Given the description of an element on the screen output the (x, y) to click on. 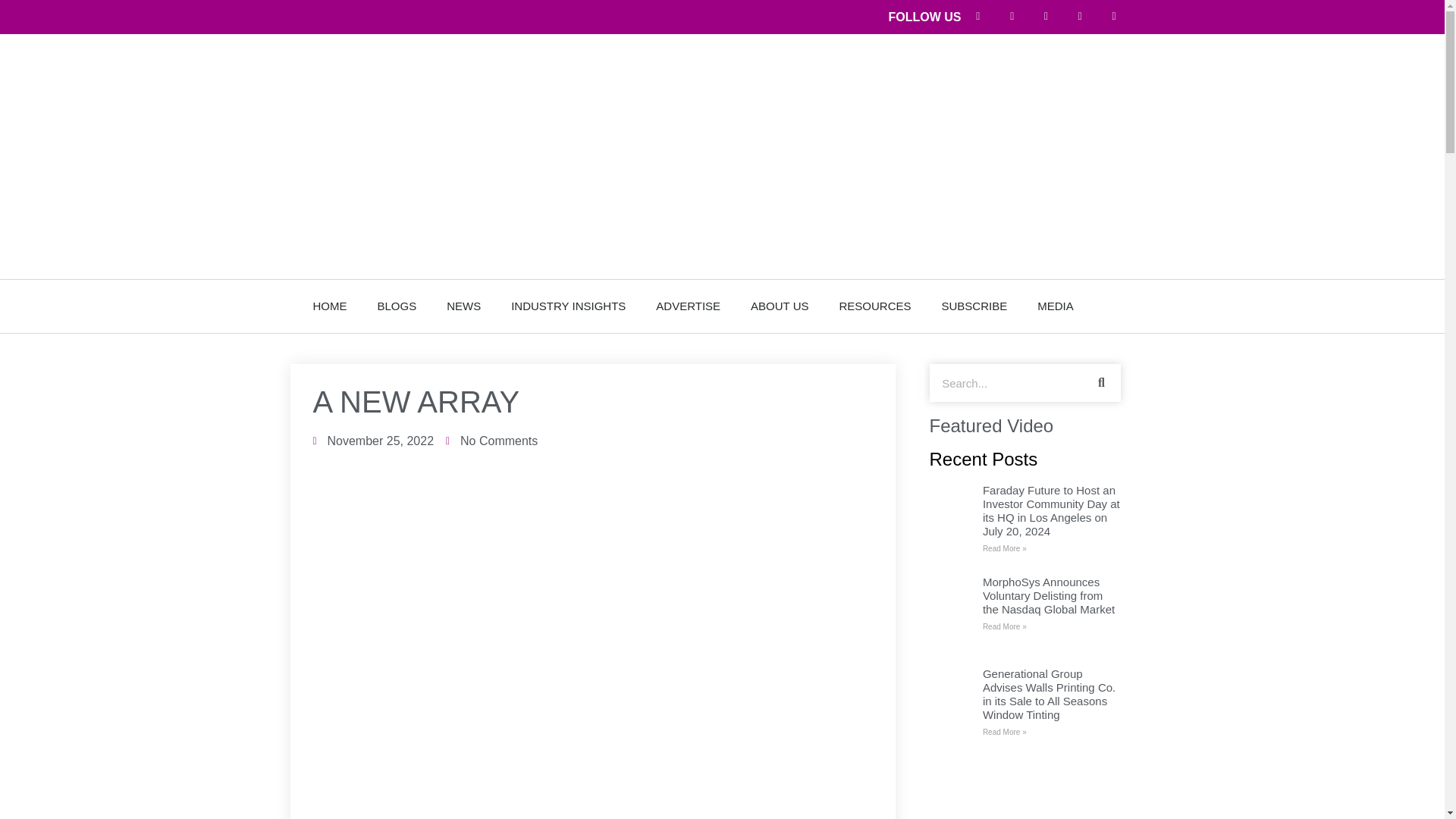
SUBSCRIBE (974, 306)
NEWS (463, 306)
INDUSTRY INSIGHTS (568, 306)
ABOUT US (779, 306)
HOME (329, 306)
ADVERTISE (687, 306)
RESOURCES (875, 306)
BLOGS (397, 306)
MEDIA (1055, 306)
